Given the description of an element on the screen output the (x, y) to click on. 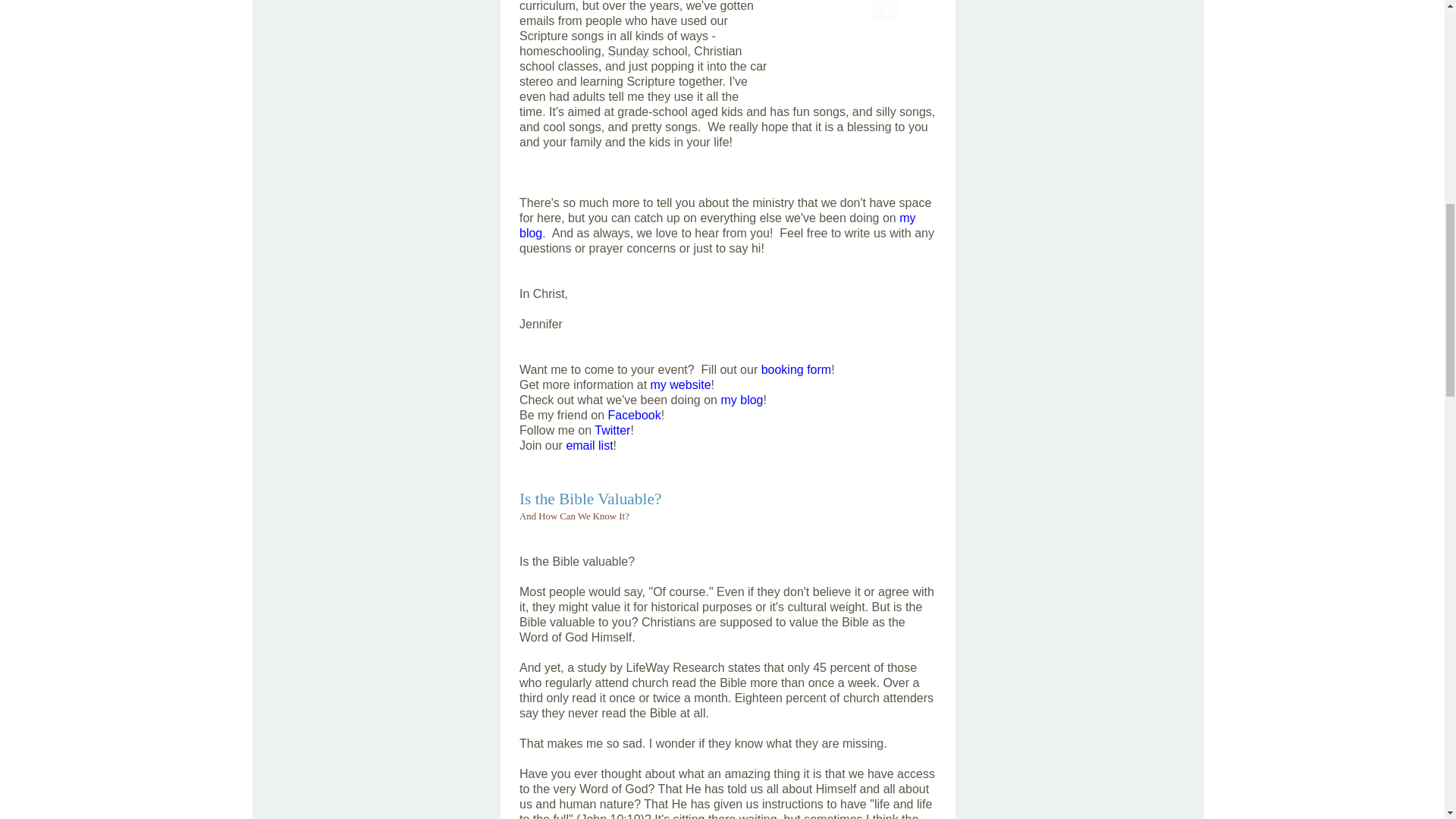
email list (589, 445)
my website (680, 384)
Facebook (634, 414)
booking form (796, 369)
my blog (741, 399)
Twitter (612, 430)
my blog (717, 225)
